Given the description of an element on the screen output the (x, y) to click on. 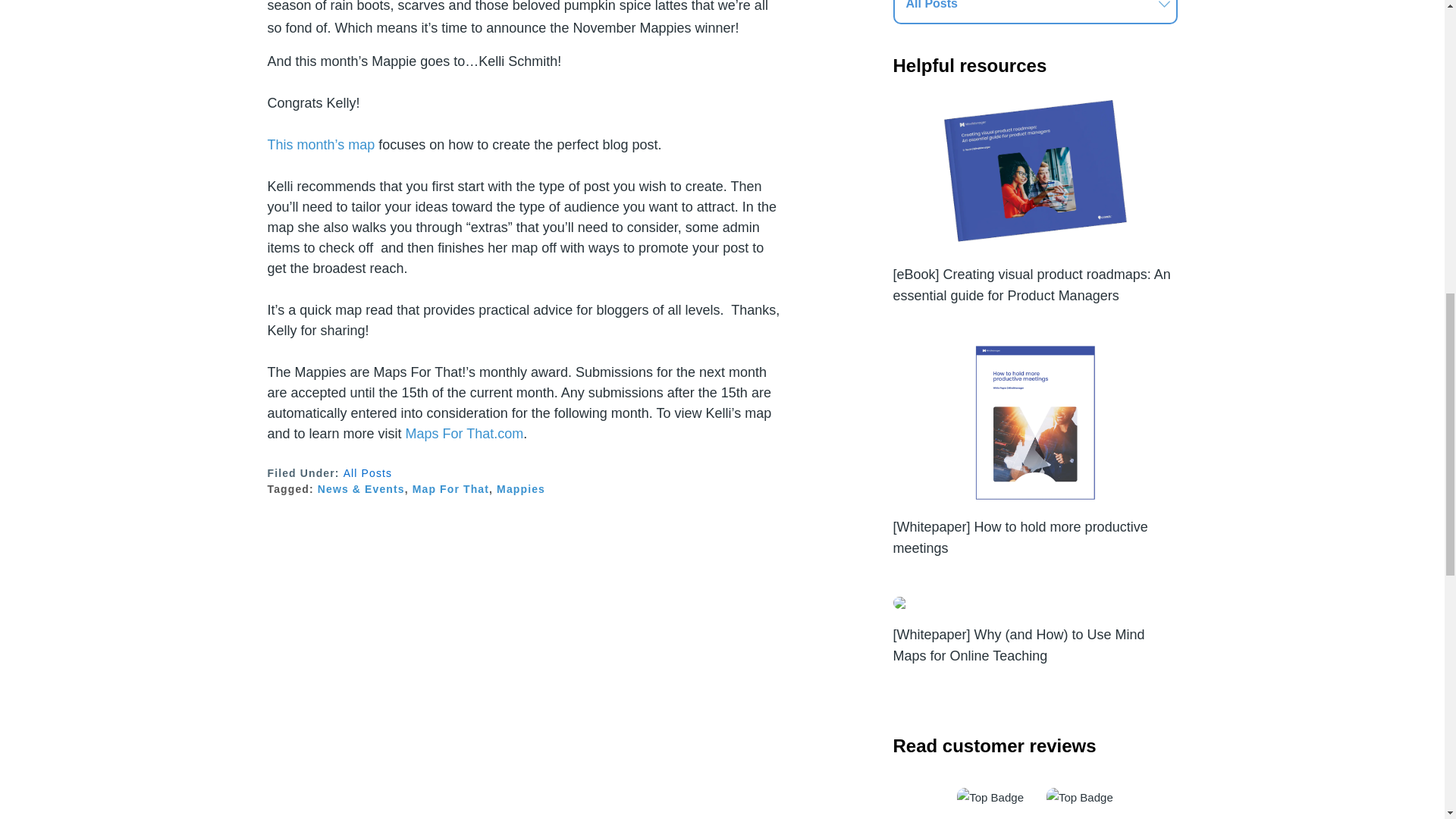
Mappies (520, 489)
Map For That (450, 489)
Maps For That.com (465, 433)
All Posts (368, 472)
